Given the description of an element on the screen output the (x, y) to click on. 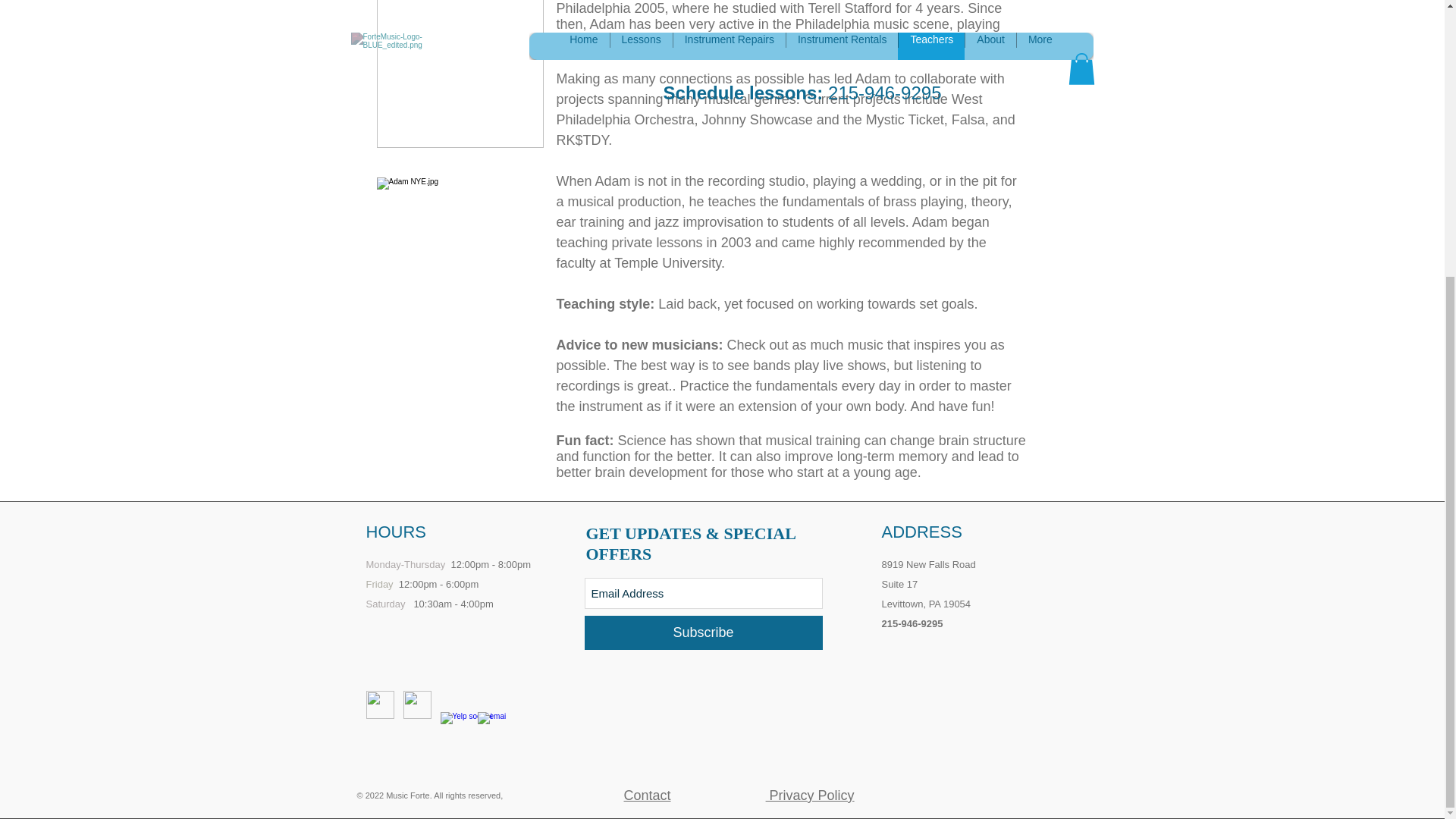
Contact (646, 795)
Subscribe (702, 632)
Privacy Policy (809, 795)
